Given the description of an element on the screen output the (x, y) to click on. 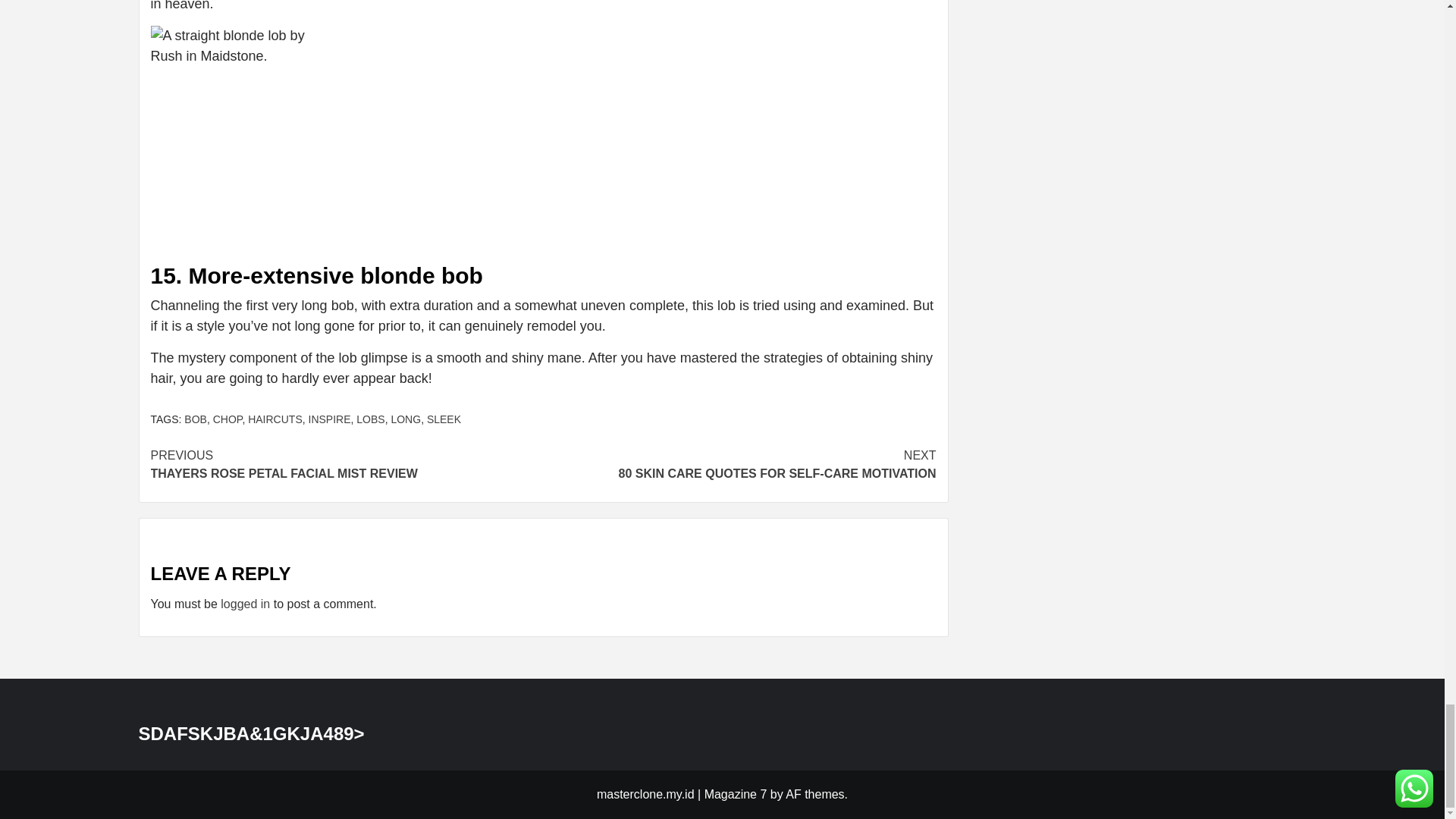
HAIRCUTS (274, 419)
BOB (195, 419)
CHOP (227, 419)
